Given the description of an element on the screen output the (x, y) to click on. 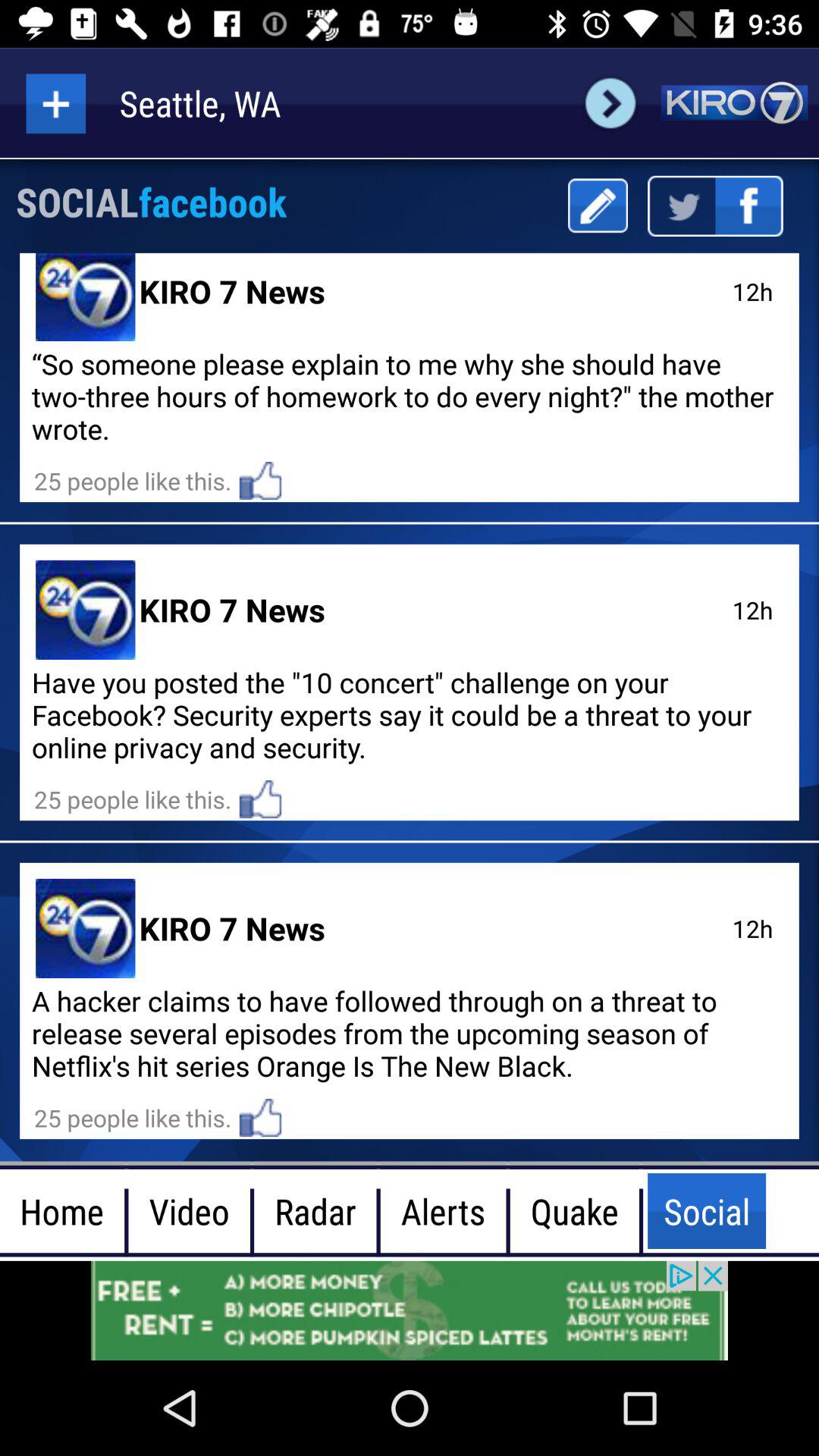
write comments (597, 206)
